Given the description of an element on the screen output the (x, y) to click on. 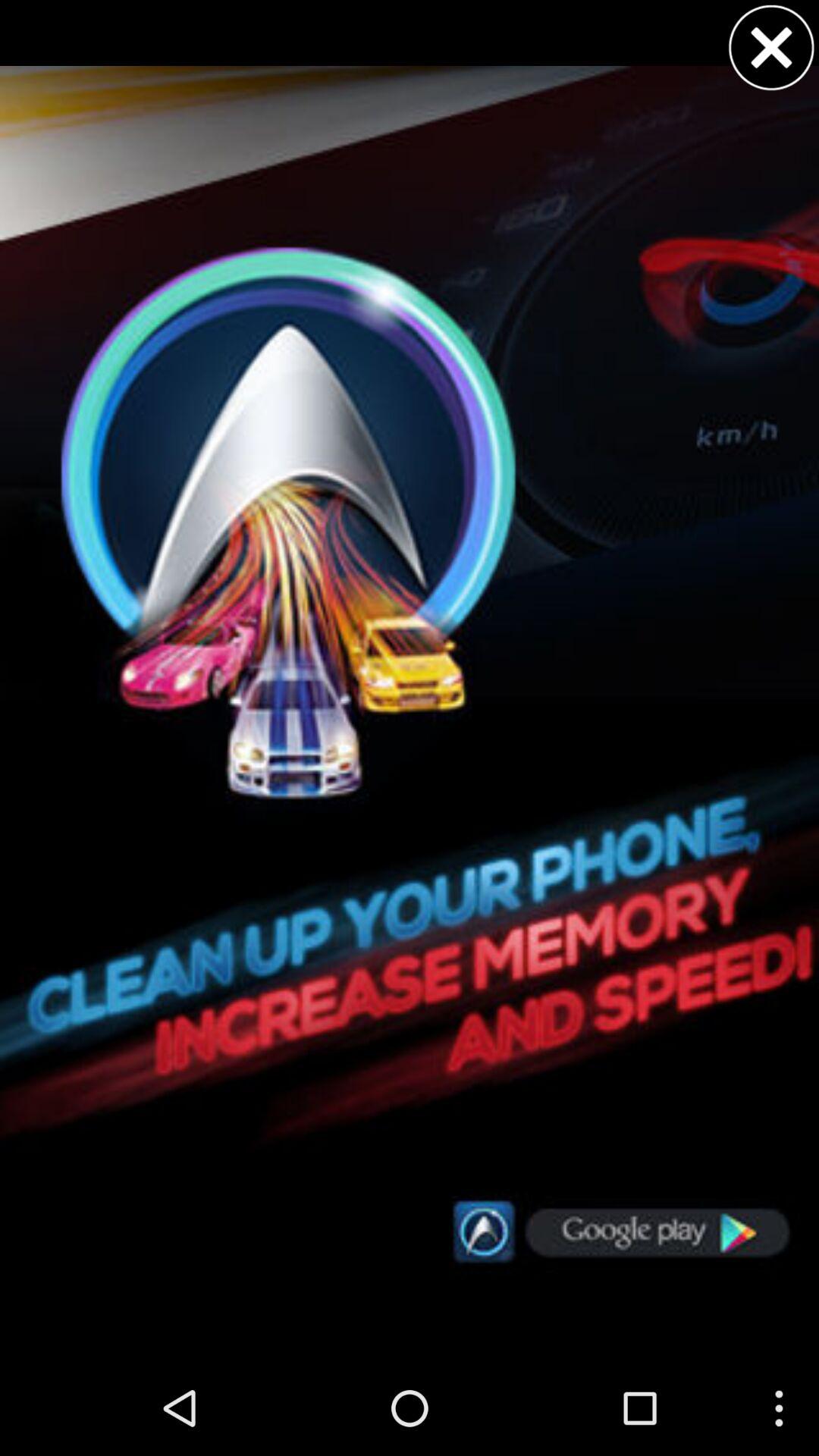
turn on the item at the center (409, 680)
